Given the description of an element on the screen output the (x, y) to click on. 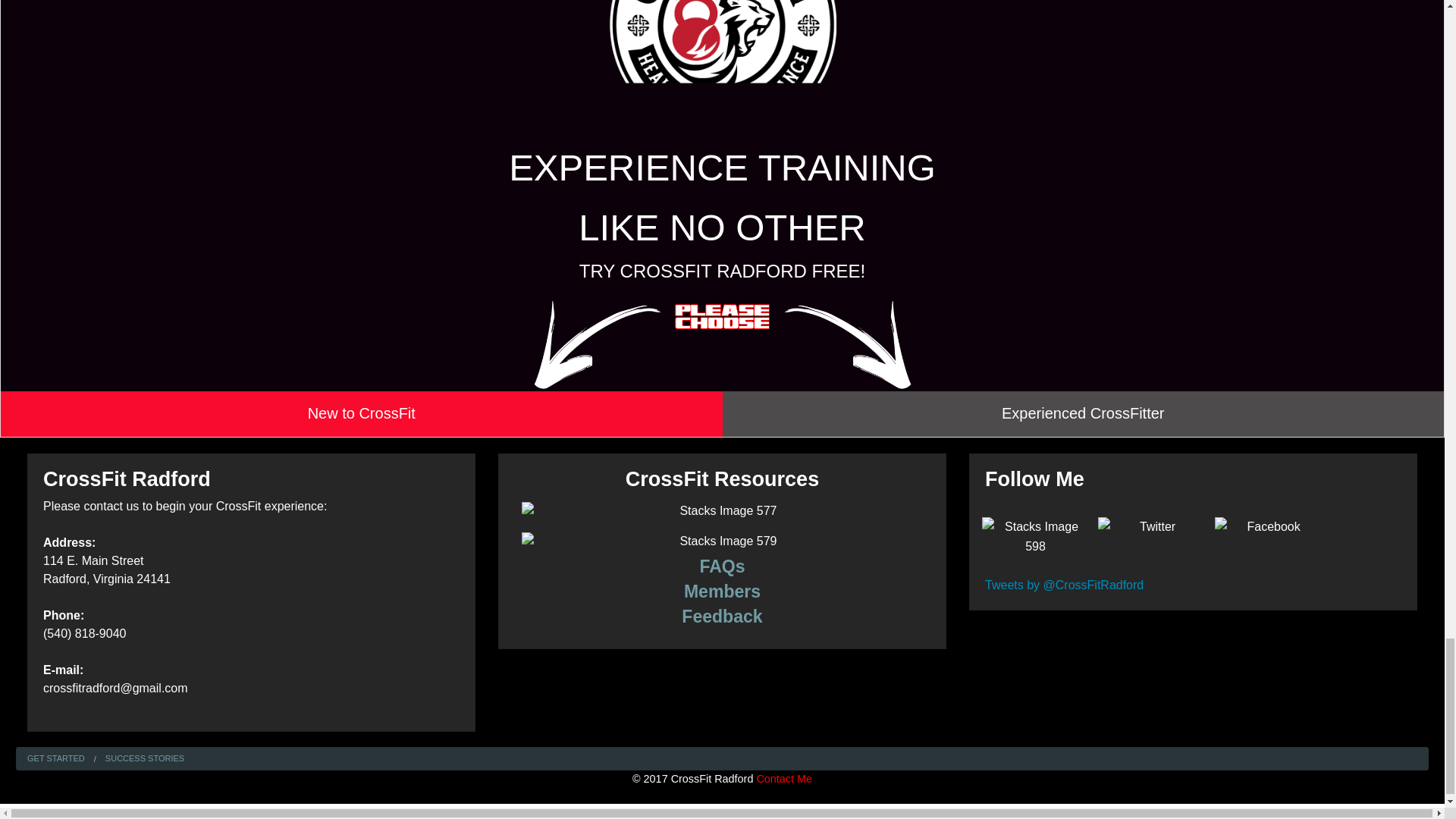
Feedback (721, 616)
Contact Me (783, 778)
Crossfit Journal: The Performance-Based Lifestyle Resource (722, 541)
GET STARTED (55, 757)
New to CrossFit (361, 413)
WODs (722, 591)
SUCCESS STORIES (144, 757)
CrossFit Radford (721, 566)
Experienced CrossFitter (1083, 413)
FAQs (721, 566)
